Given the description of an element on the screen output the (x, y) to click on. 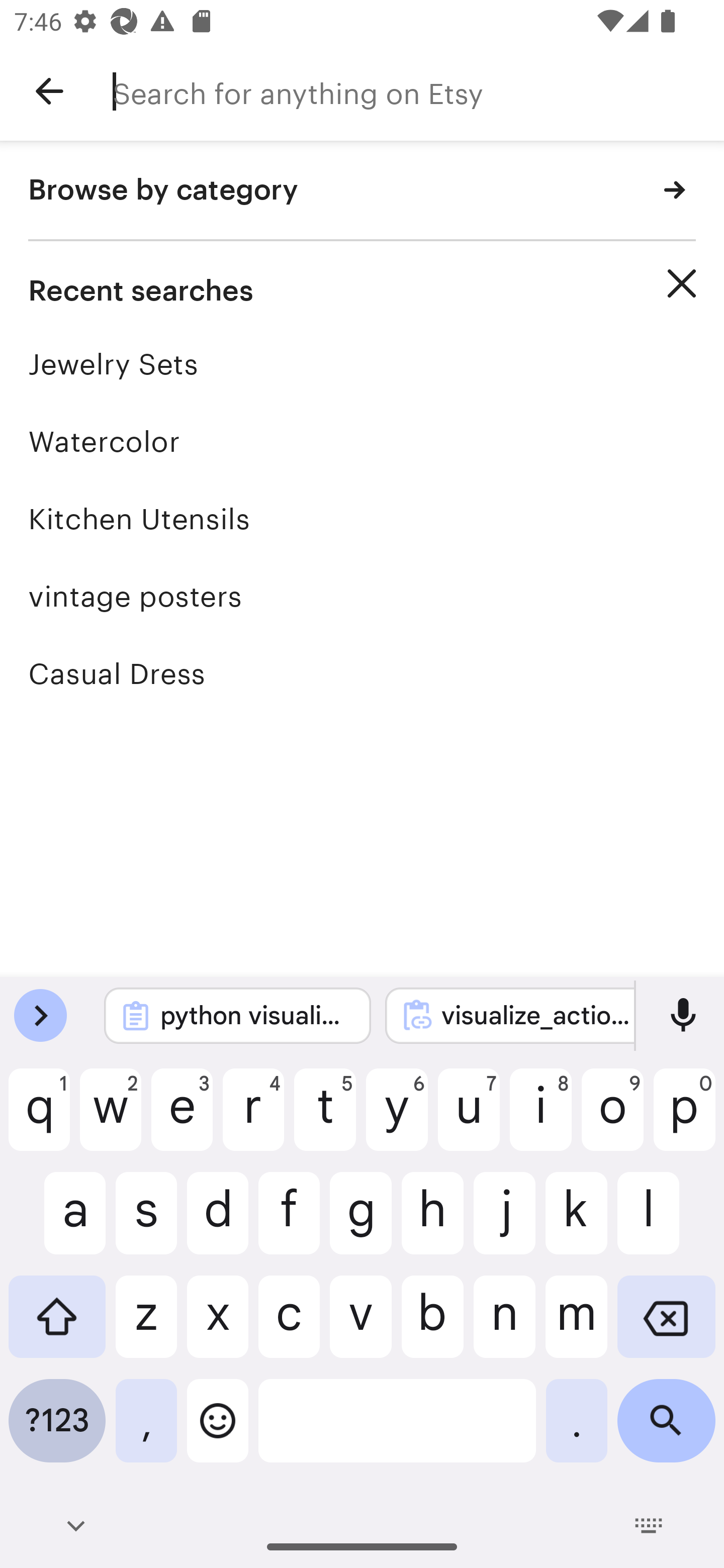
Navigate up (49, 91)
Search for anything on Etsy (418, 91)
Browse by category (362, 191)
Clear (681, 283)
Jewelry Sets (362, 364)
Watercolor (362, 440)
Kitchen Utensils (362, 518)
vintage posters (362, 596)
Casual Dress (362, 673)
